Given the description of an element on the screen output the (x, y) to click on. 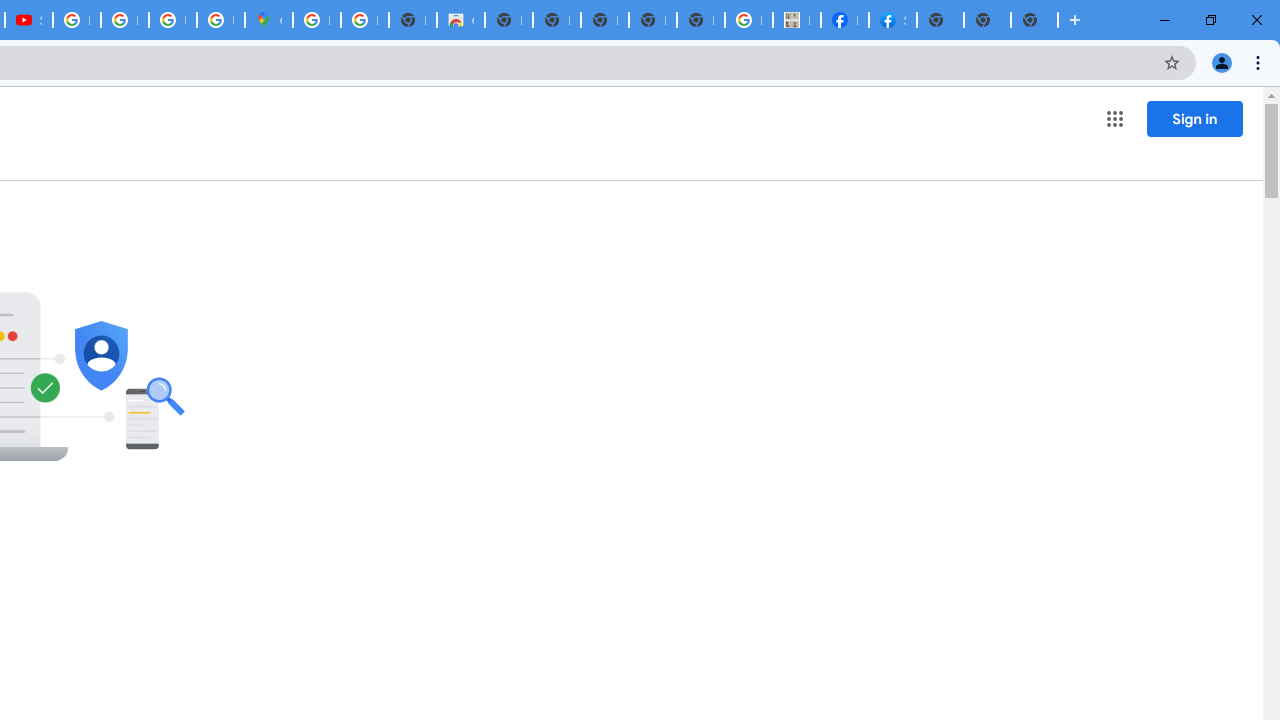
Miley Cyrus | Facebook (844, 20)
Google Maps (268, 20)
New Tab (1034, 20)
Sign Up for Facebook (892, 20)
Chrome Web Store (460, 20)
MILEY CYRUS. (796, 20)
